Given the description of an element on the screen output the (x, y) to click on. 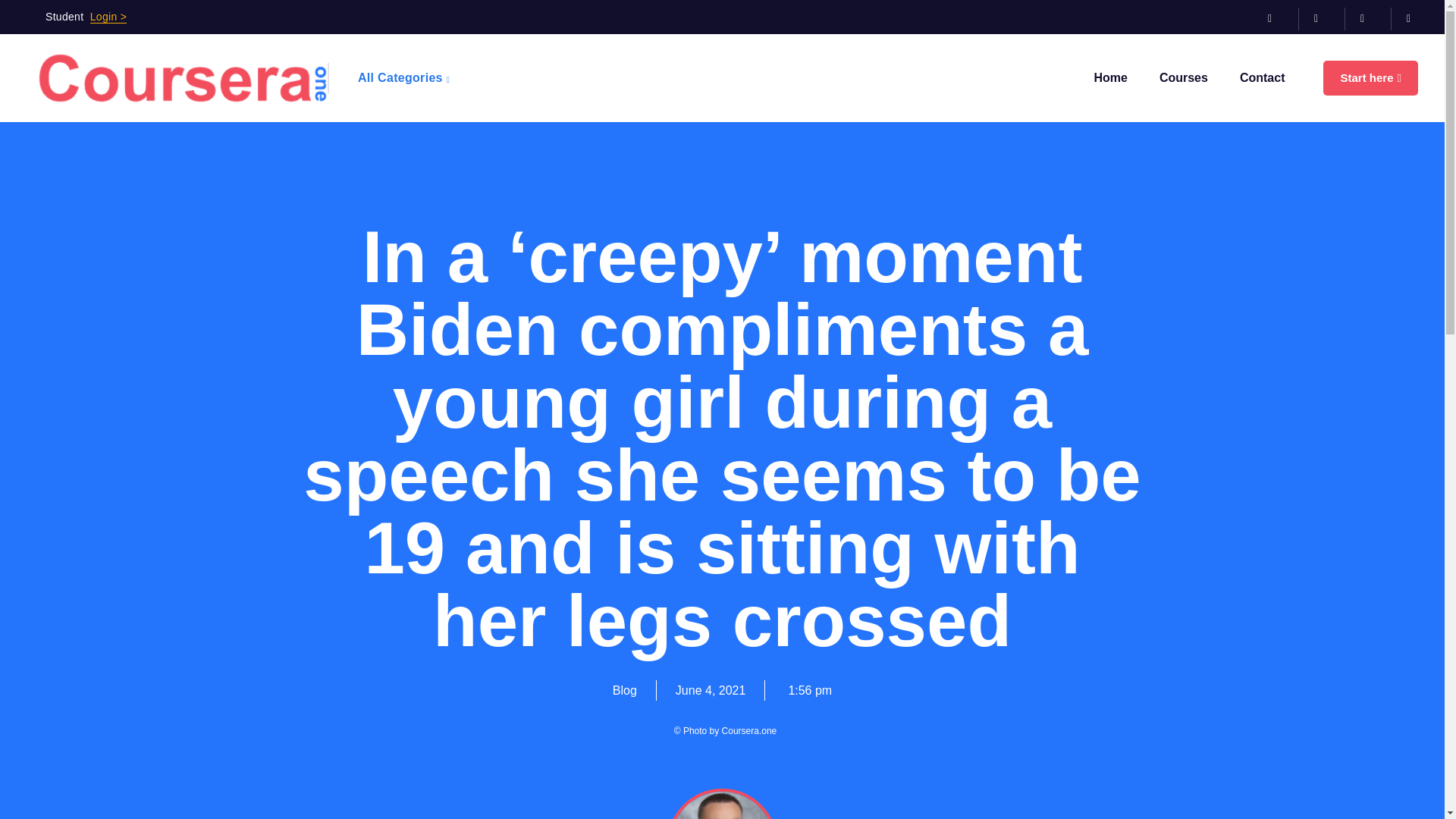
Contact (1262, 78)
Courses (1183, 78)
June 4, 2021 (710, 690)
Home (1109, 78)
Start here (1370, 78)
All Categories (405, 78)
COURSERA ONE (182, 78)
